Given the description of an element on the screen output the (x, y) to click on. 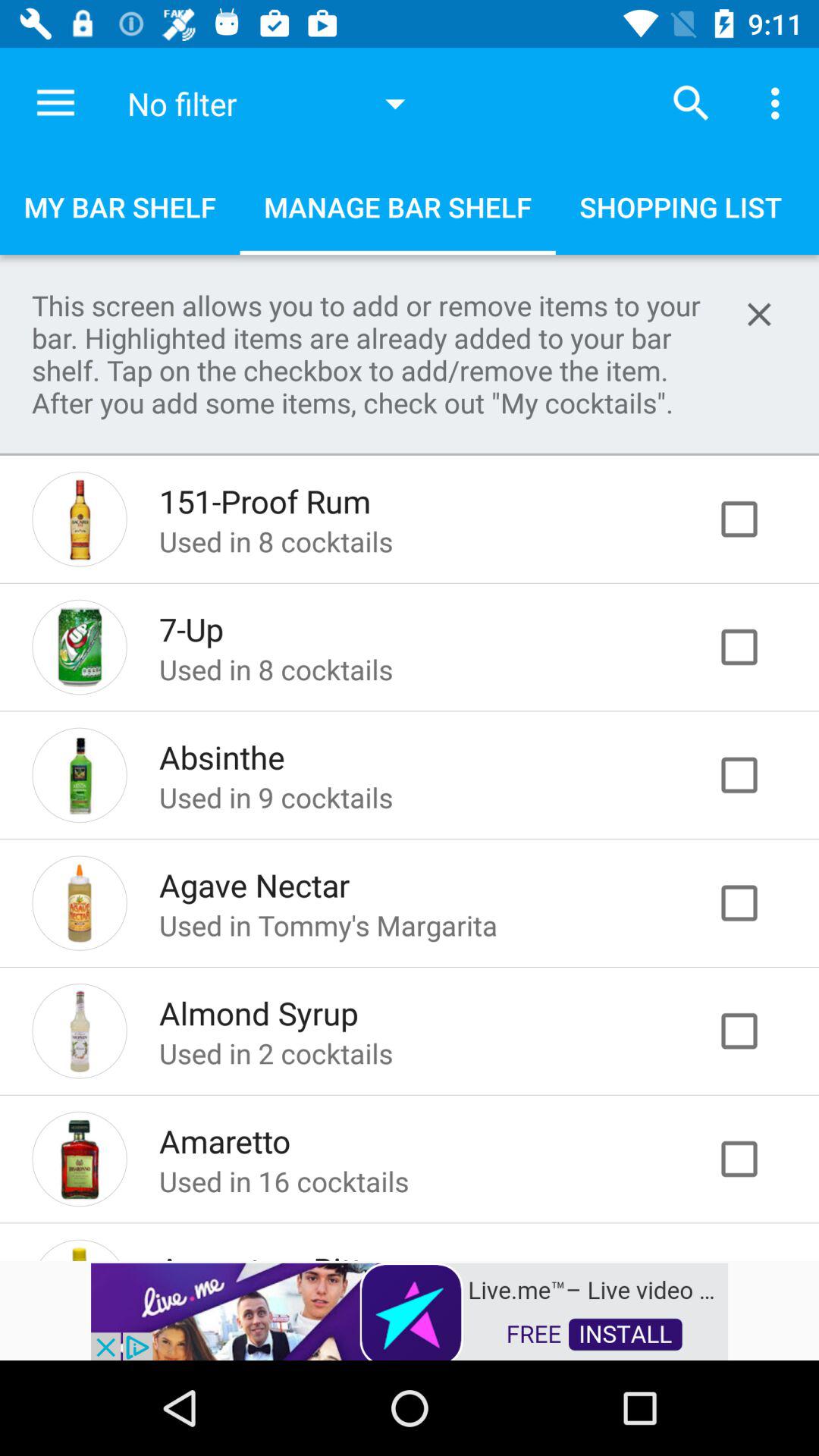
add to bar (755, 1030)
